Given the description of an element on the screen output the (x, y) to click on. 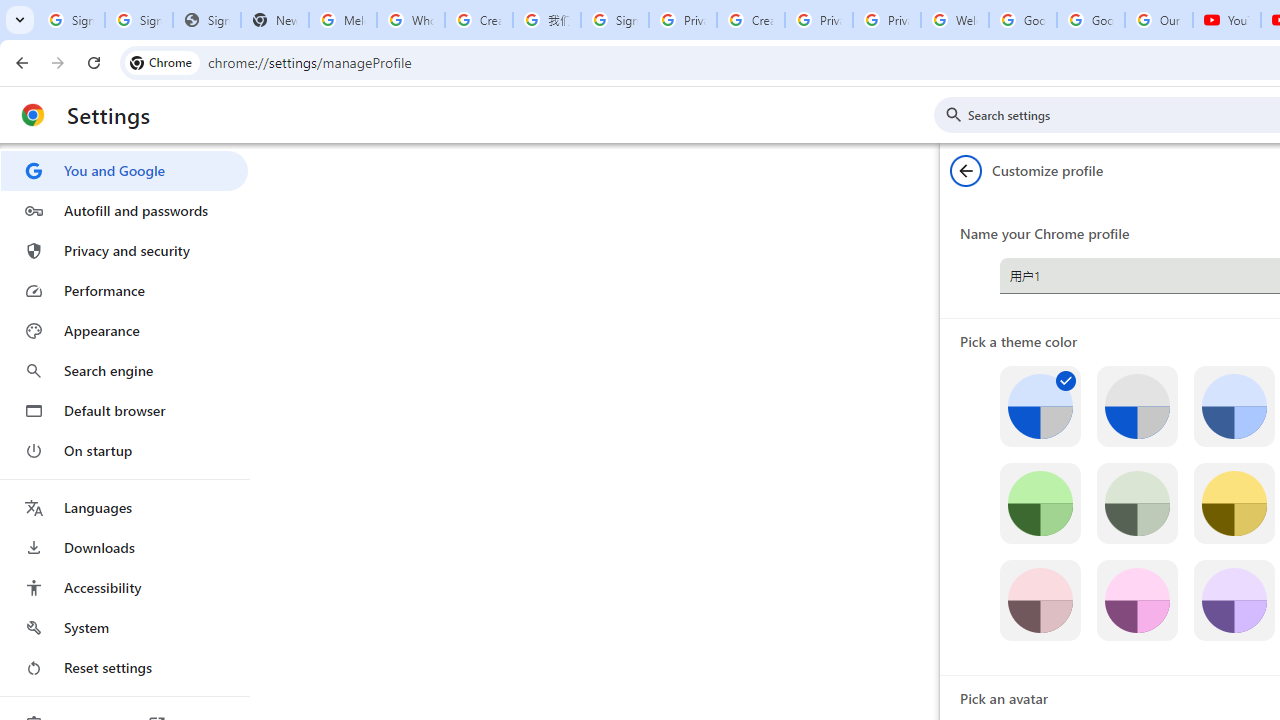
New Tab (274, 20)
Sign In - USA TODAY (206, 20)
Reset settings (124, 668)
Welcome to My Activity (954, 20)
Create your Google Account (750, 20)
Privacy and security (124, 250)
You and Google (124, 170)
YouTube (1226, 20)
Search engine (124, 370)
